Given the description of an element on the screen output the (x, y) to click on. 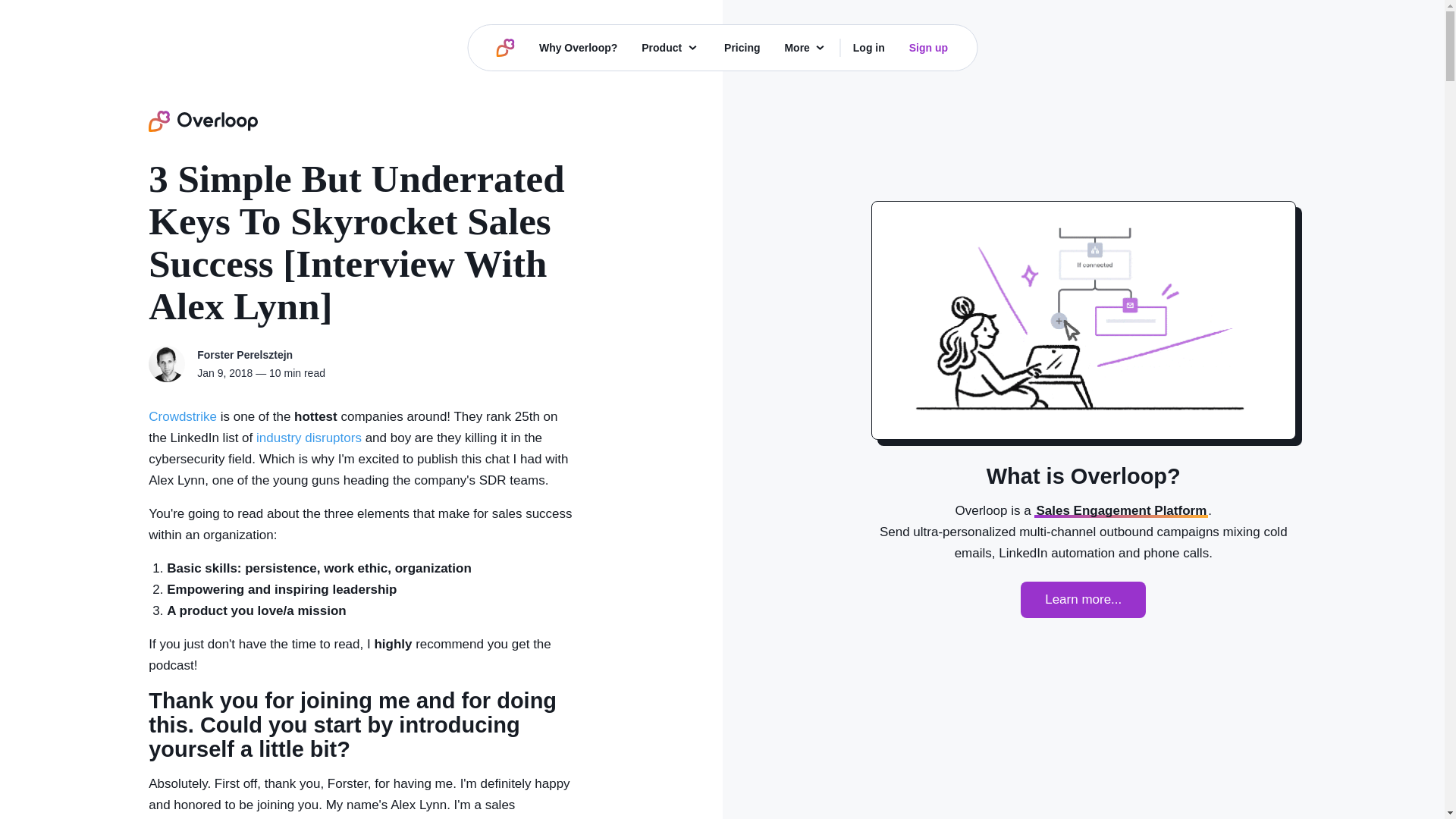
Log in (869, 47)
Overloop (202, 120)
Product (671, 47)
Sign up (927, 47)
More (805, 47)
Why Overloop? (577, 47)
Pricing (741, 47)
